Given the description of an element on the screen output the (x, y) to click on. 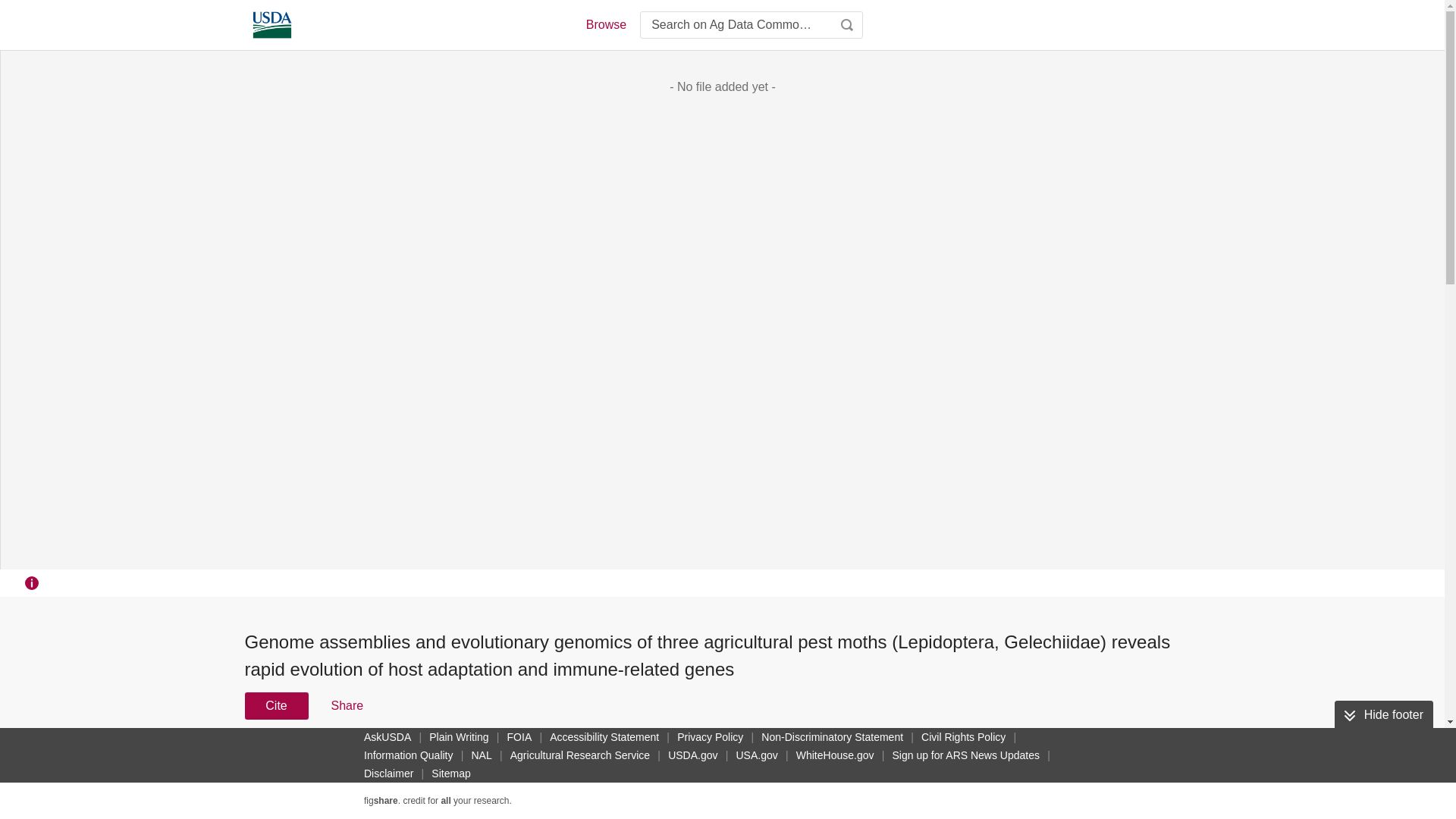
Sitemap (450, 773)
Non-Discriminatory Statement (832, 737)
USA.gov (755, 755)
Civil Rights Policy (963, 737)
NAL (481, 755)
USDA.gov (692, 755)
Hide footer (1383, 715)
Agricultural Research Service (579, 755)
USAGE METRICS (976, 759)
Sign up for ARS News Updates (964, 755)
